Given the description of an element on the screen output the (x, y) to click on. 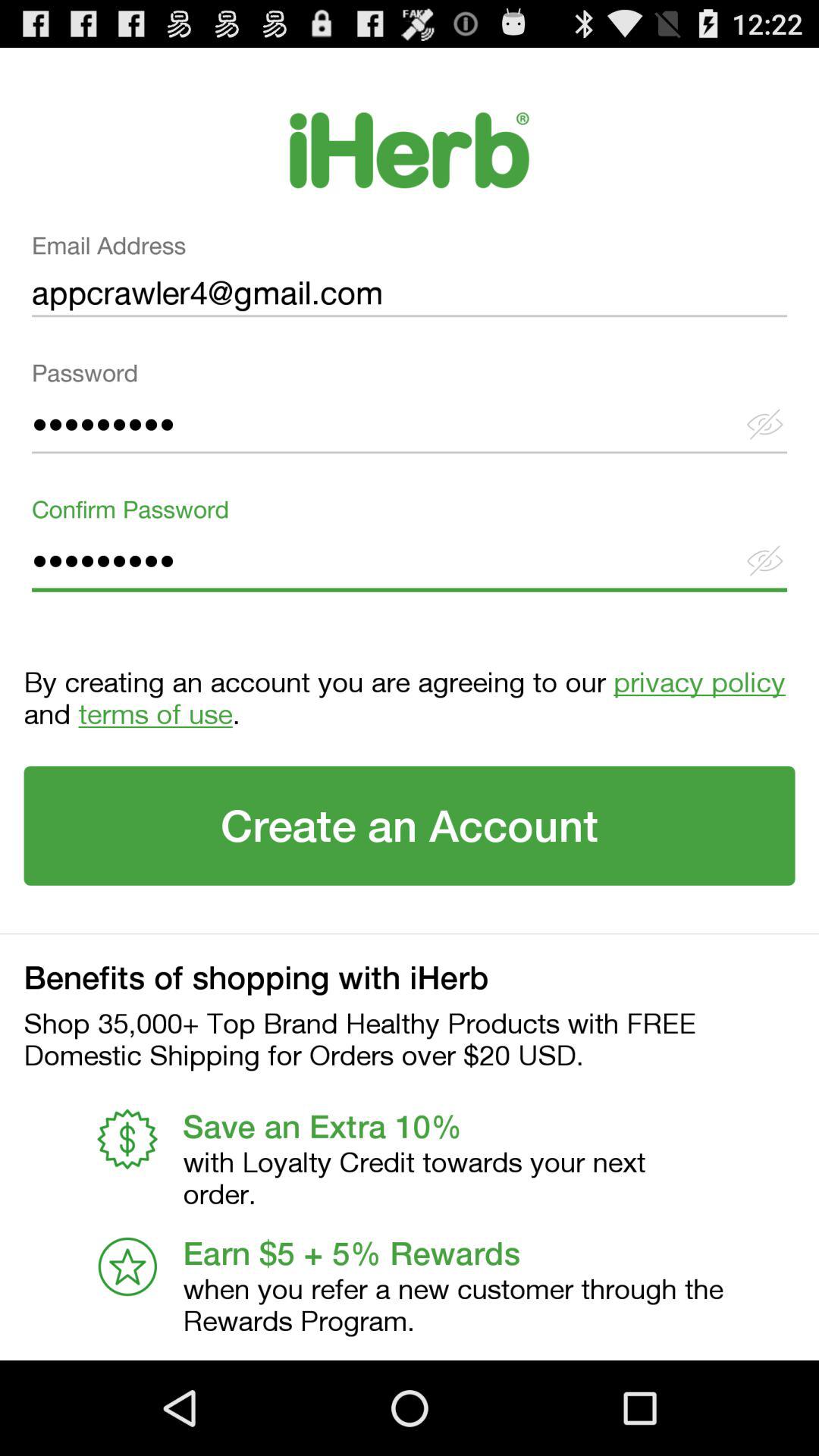
click on password (409, 412)
select the text email address (409, 280)
click on create an account button (409, 825)
click on the icon left to save an extra 10 (126, 1138)
click on the first icon from the bottom (126, 1266)
select the text search below the text iherb (409, 280)
select the text field confirm password on the web page (409, 549)
